Given the description of an element on the screen output the (x, y) to click on. 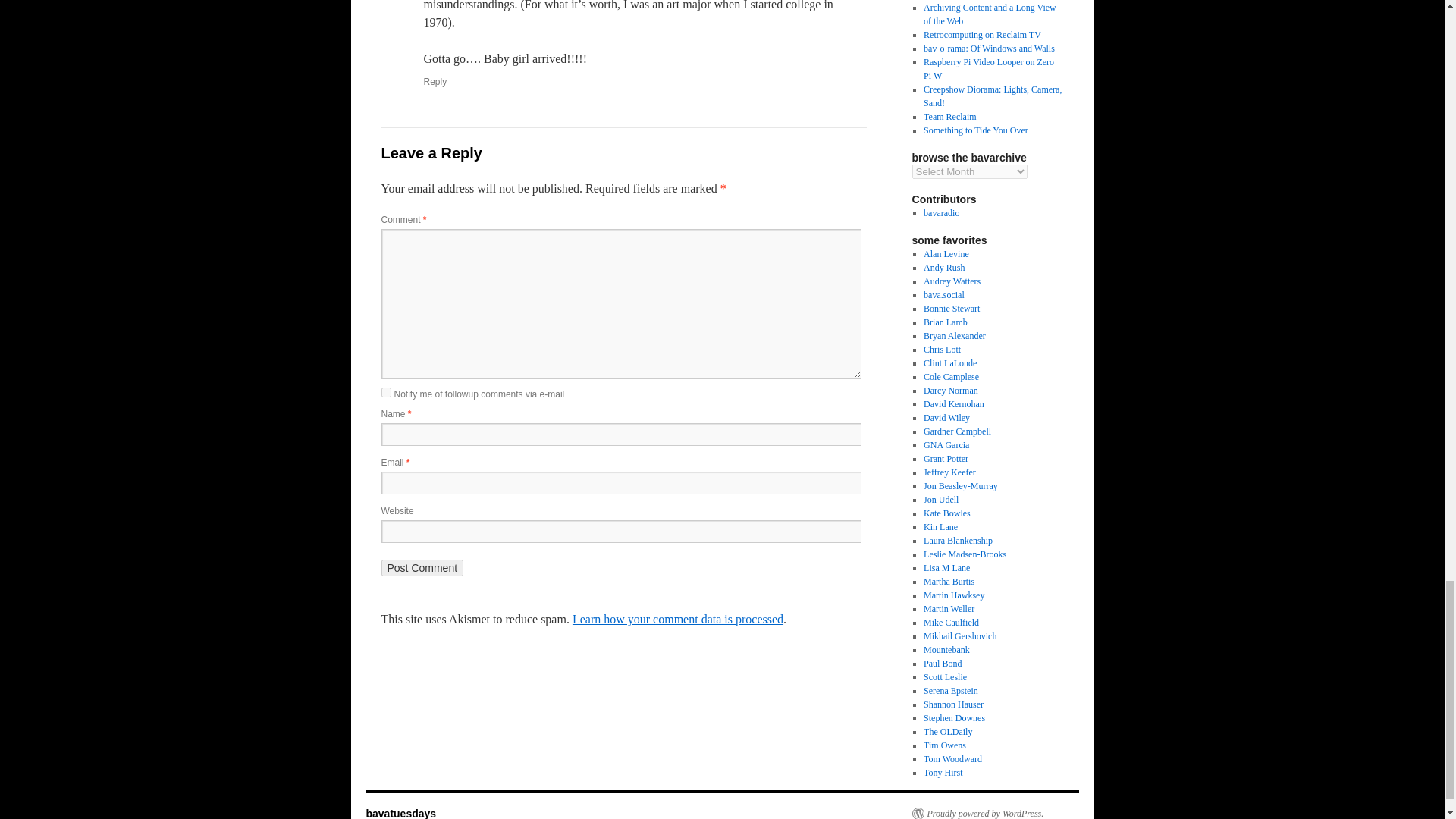
Post Comment (421, 567)
subscribe (385, 392)
Lauren Blankenship lays it down (957, 540)
bava on the radio (941, 213)
